Given the description of an element on the screen output the (x, y) to click on. 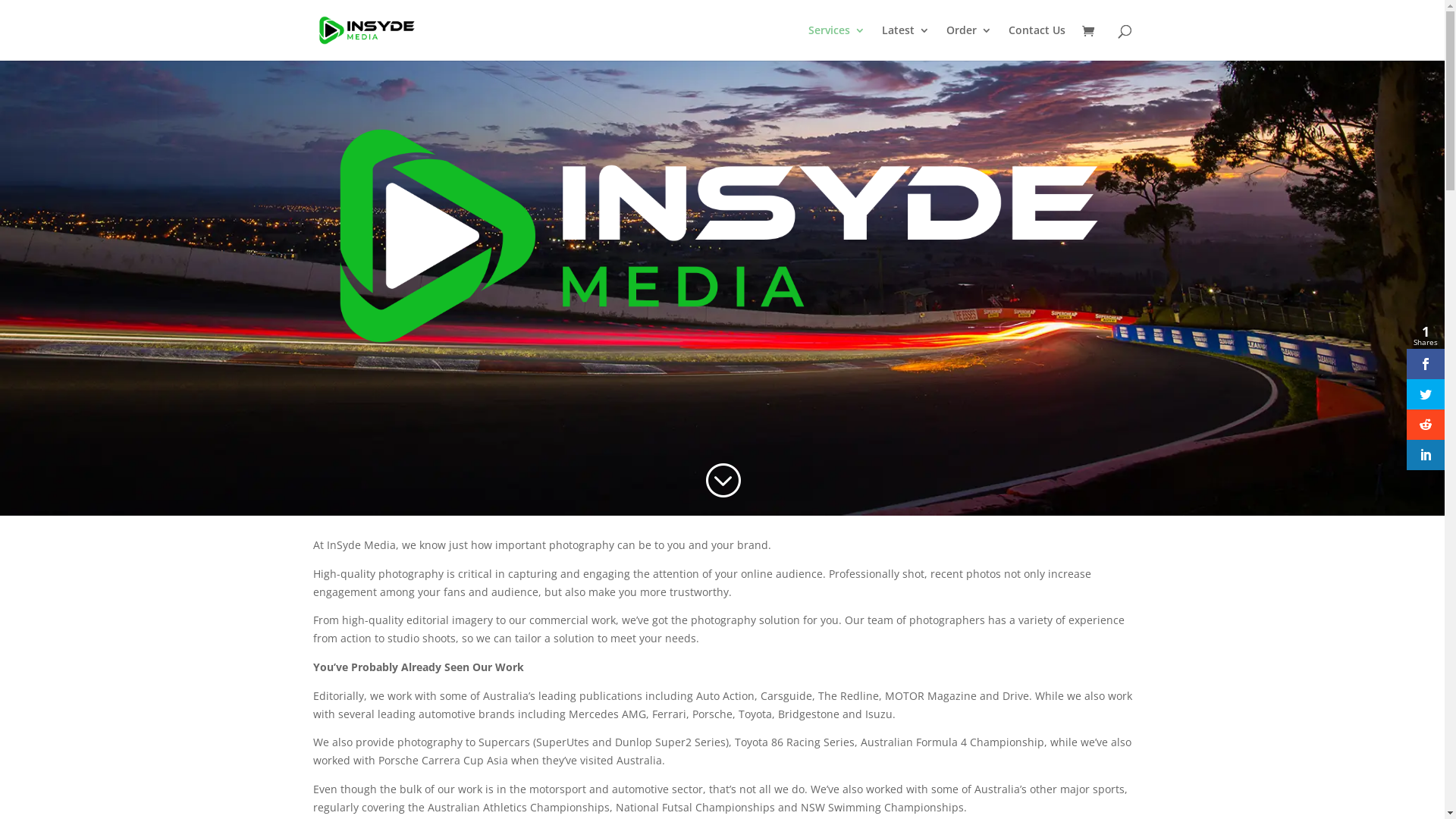
Order Element type: text (968, 42)
Services Element type: text (836, 42)
Latest Element type: text (904, 42)
; Element type: text (721, 480)
Contact Us Element type: text (1036, 42)
